Given the description of an element on the screen output the (x, y) to click on. 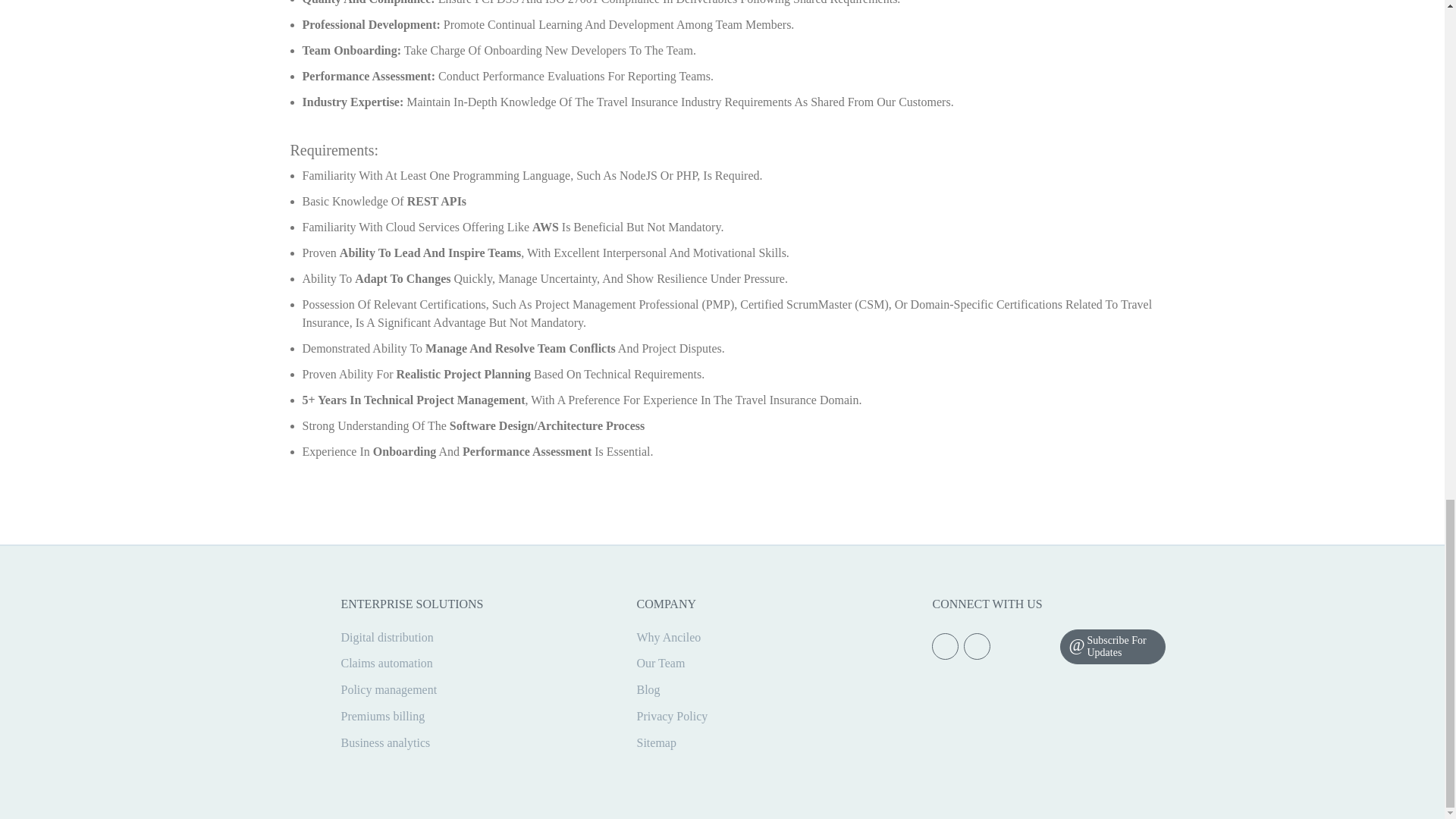
Digital distribution (386, 636)
Policy management (389, 689)
Subscribe For Updates (1112, 646)
Our Team (660, 662)
Sitemap (655, 742)
Claims automation (386, 662)
Privacy Policy (671, 716)
Blog (647, 689)
Why Ancileo (668, 636)
Business analytics (385, 742)
